Given the description of an element on the screen output the (x, y) to click on. 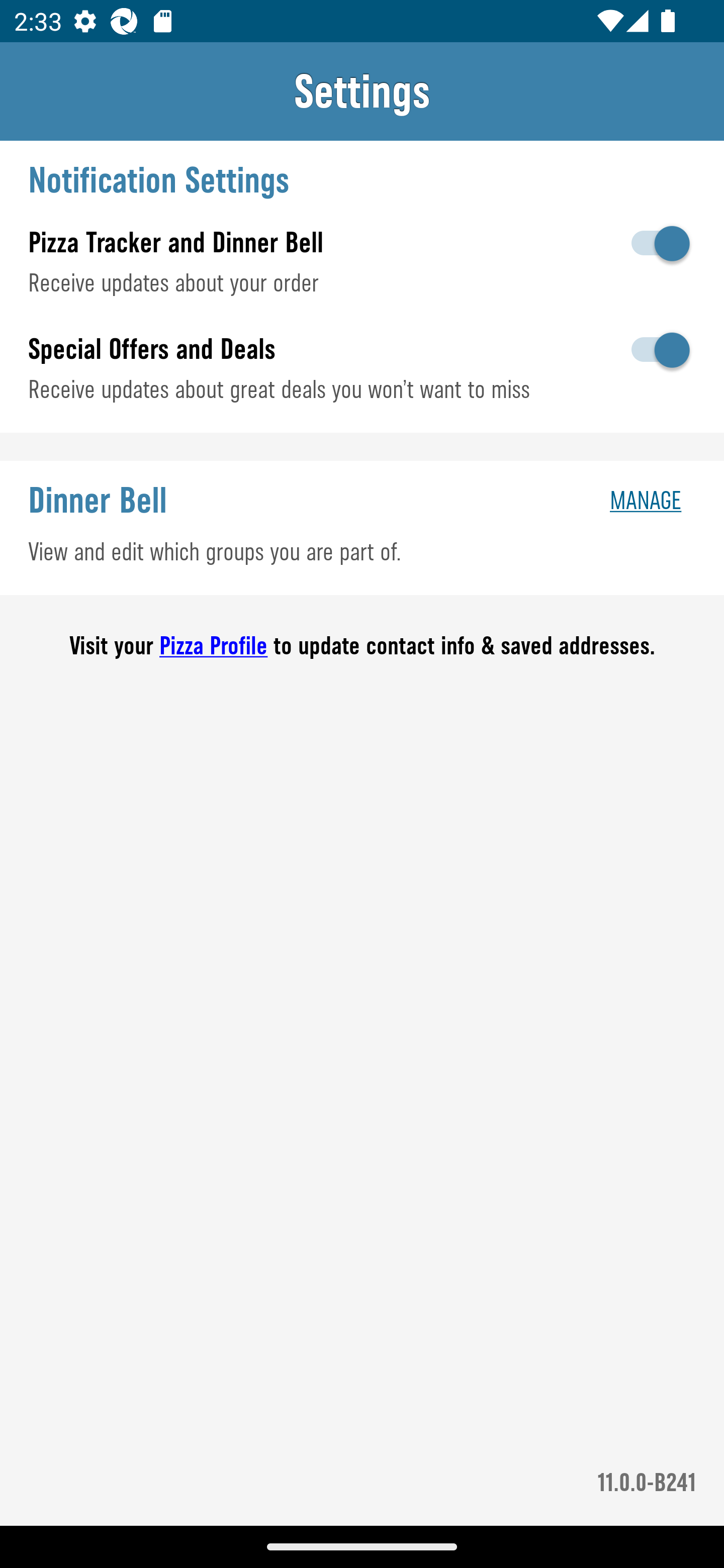
MANAGE (649, 500)
